Given the description of an element on the screen output the (x, y) to click on. 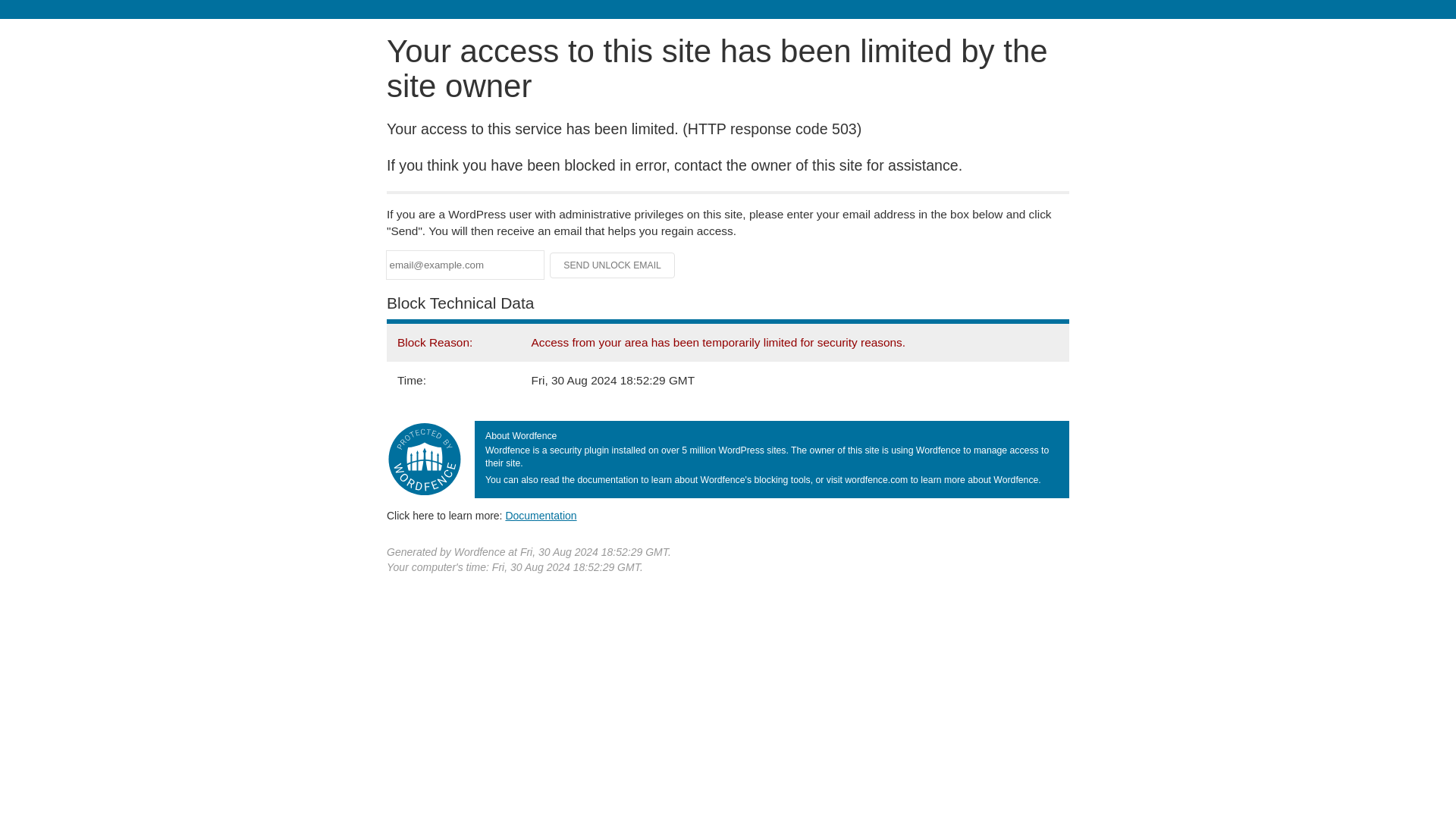
Send Unlock Email (612, 265)
Send Unlock Email (612, 265)
Documentation (540, 515)
